Given the description of an element on the screen output the (x, y) to click on. 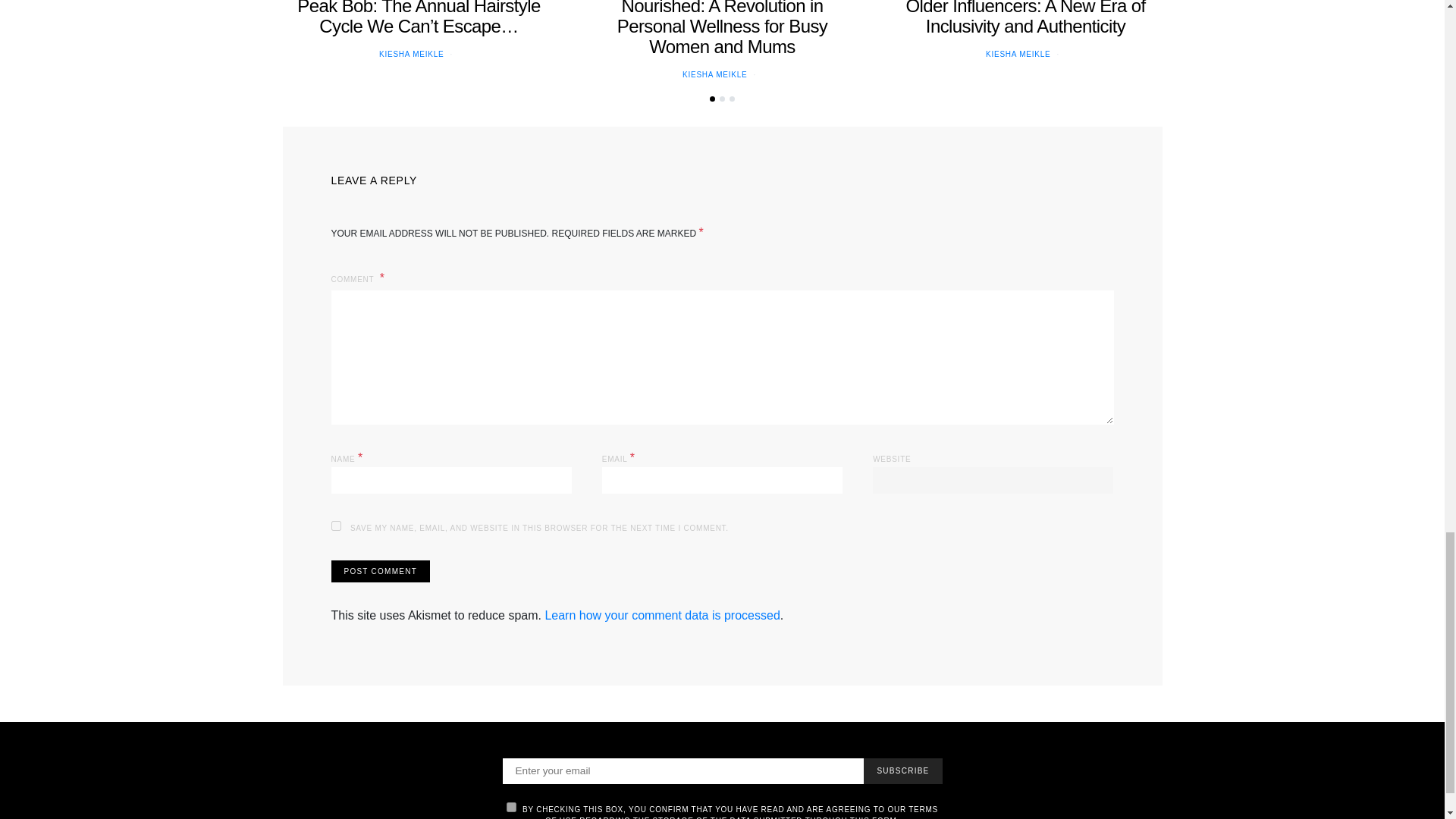
on (511, 807)
View all posts by Kiesha Meikle (1017, 53)
View all posts by Kiesha Meikle (411, 53)
View all posts by Kiesha Meikle (714, 74)
yes (335, 525)
Post Comment (379, 571)
